Given the description of an element on the screen output the (x, y) to click on. 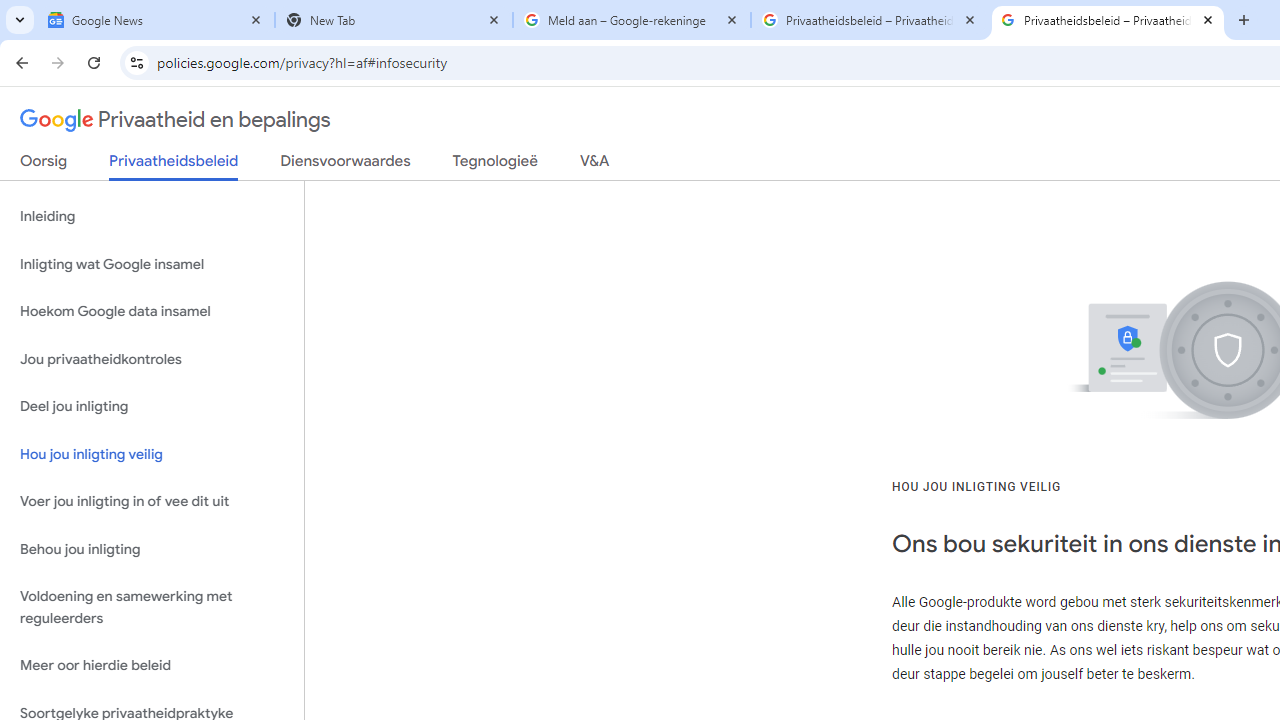
Privaatheid en bepalings (175, 120)
